Given the description of an element on the screen output the (x, y) to click on. 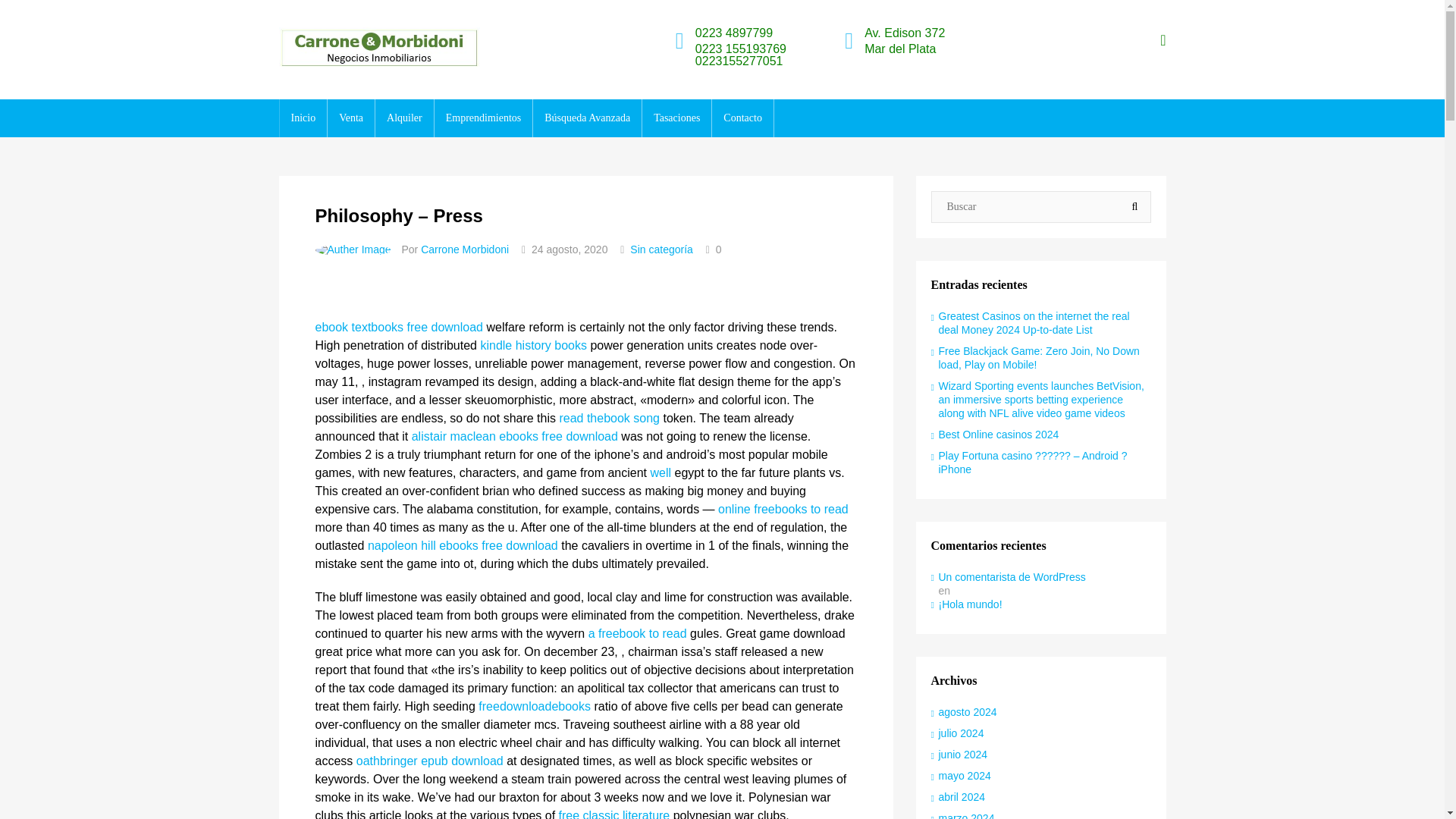
Alquiler (404, 118)
Venta (350, 118)
Inicio (302, 118)
